Given the description of an element on the screen output the (x, y) to click on. 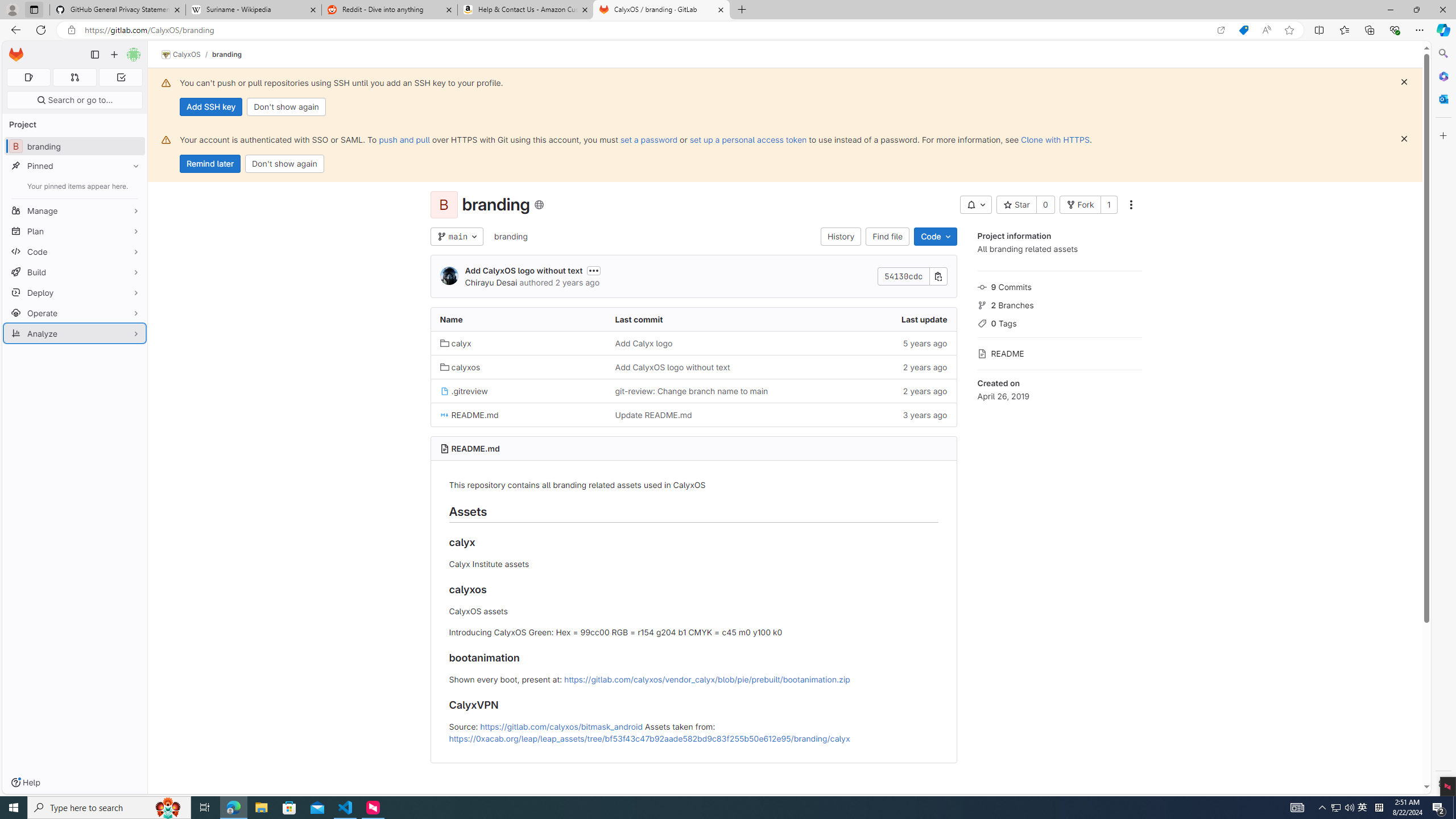
Homepage (16, 54)
2 years ago (868, 390)
Dismiss (1403, 138)
Last update (868, 319)
https://gitlab.com/calyxos/bitmask_android (561, 726)
B branding (74, 145)
Operate (74, 312)
More actions (1130, 204)
Don't show again (284, 163)
